Given the description of an element on the screen output the (x, y) to click on. 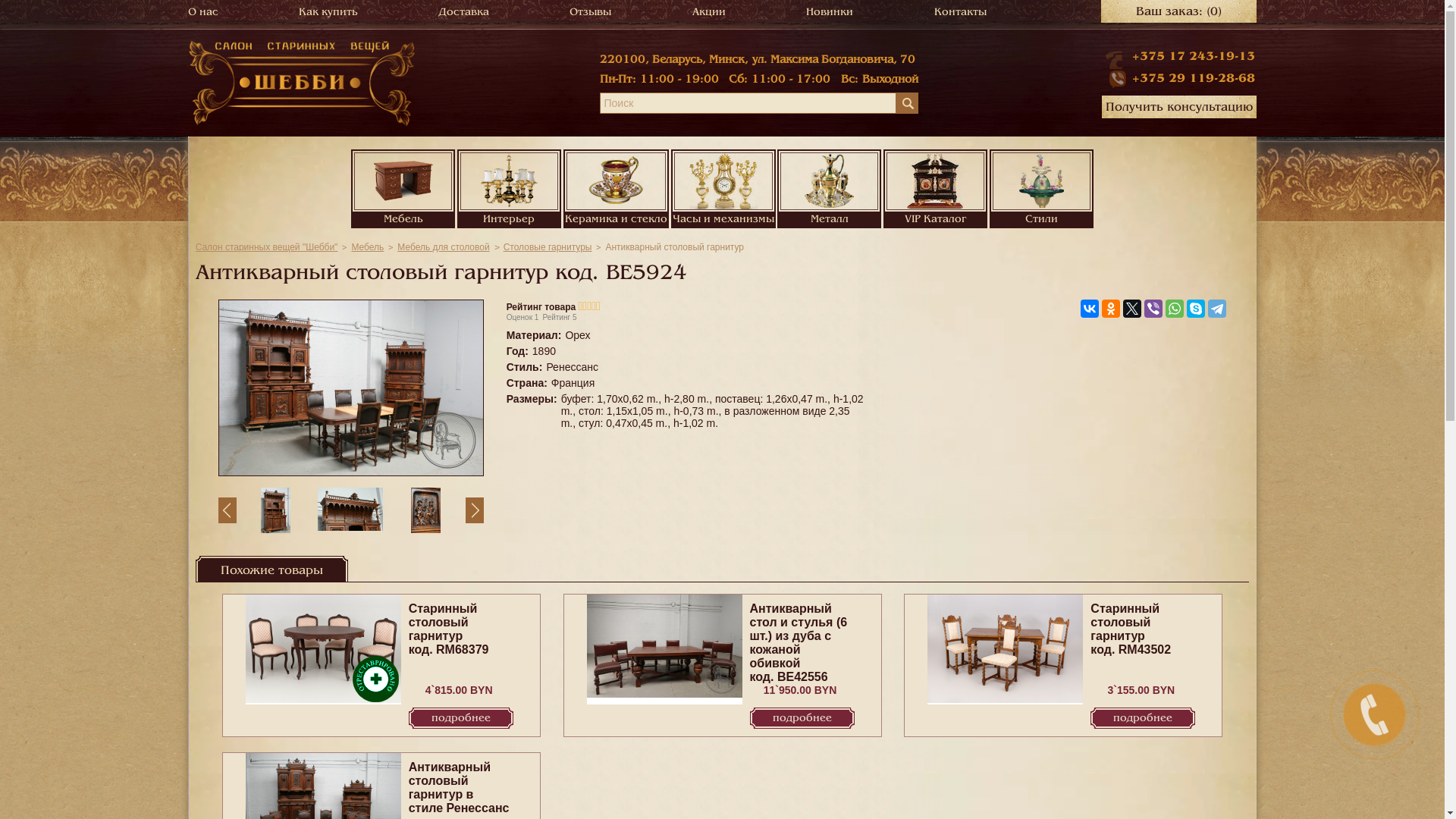
Telegram Element type: hover (1217, 308)
Twitter Element type: hover (1132, 308)
WhatsApp Element type: hover (1174, 308)
+375 29 119-28-68 Element type: text (1178, 78)
Skype Element type: hover (1195, 308)
Viber Element type: hover (1153, 308)
+375 17 243-19-13 Element type: text (1193, 55)
